Given the description of an element on the screen output the (x, y) to click on. 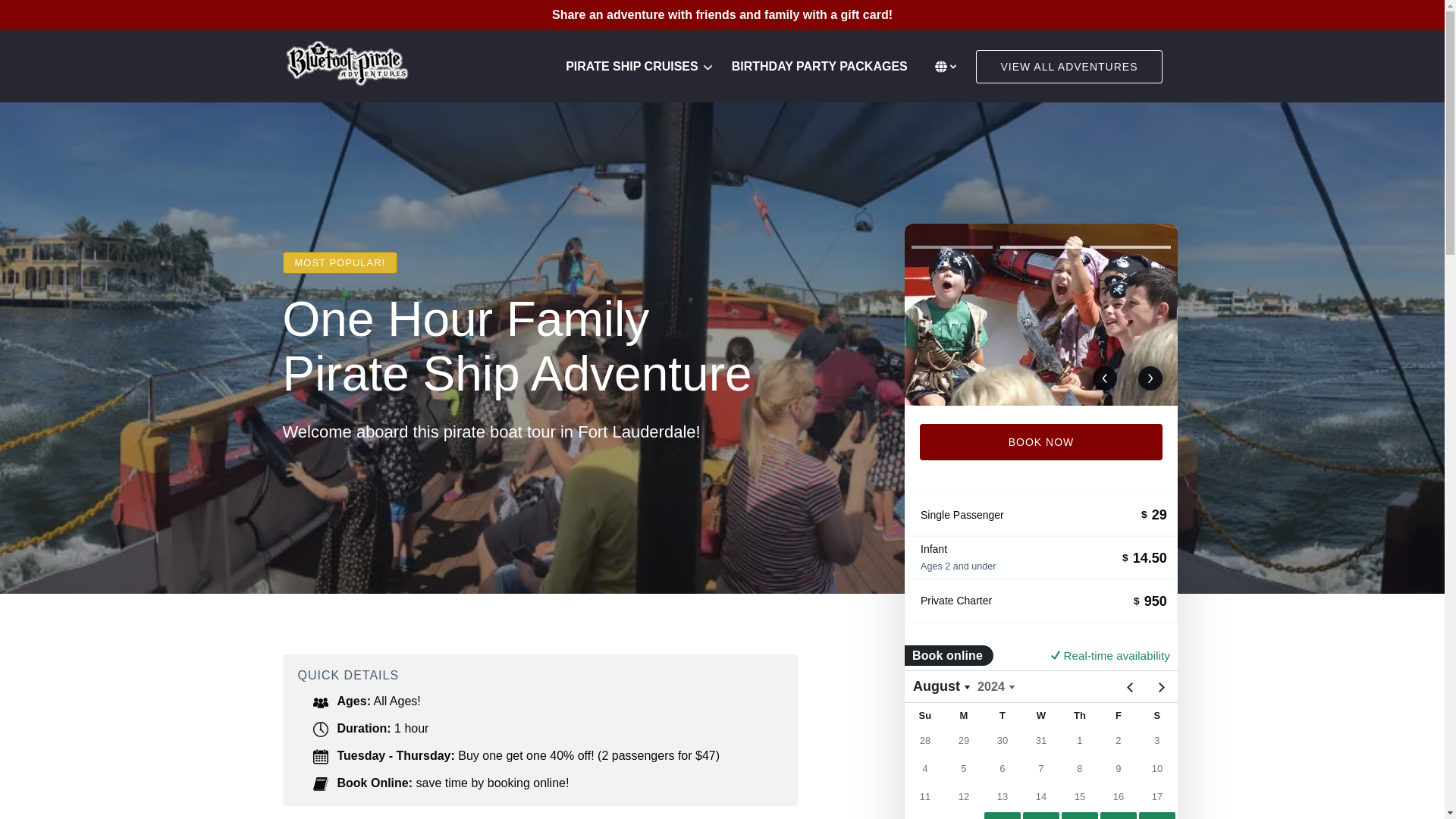
2 (1040, 246)
3 (1129, 246)
BOOK NOW (1039, 442)
Open Pirate Ship Cruises Menu (635, 57)
1 (951, 246)
Skip to primary navigation (77, 16)
PIRATE SHIP CRUISES (639, 66)
Calendar (320, 756)
Previous photo (1104, 378)
Book (320, 783)
